Given the description of an element on the screen output the (x, y) to click on. 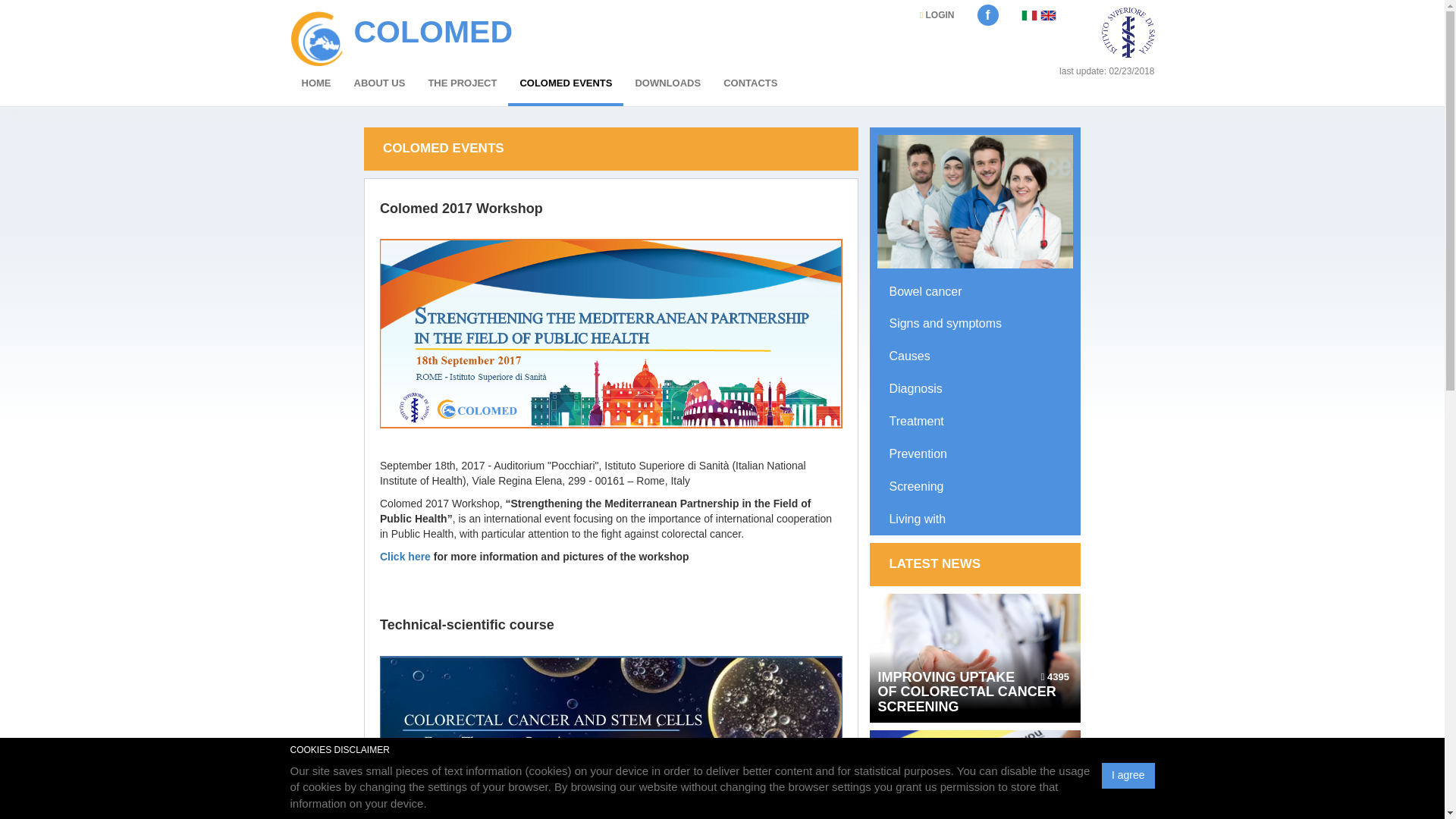
LOGIN (937, 18)
Bowel cancer (924, 291)
THE PROJECT (462, 86)
LOGIN (937, 18)
Treatment (915, 420)
HOME (315, 86)
ABOUT US (379, 86)
Living with (916, 518)
Bowel cancer (924, 291)
Screening (915, 486)
Diagnosis (915, 388)
CONTACTS (750, 86)
ABOUT US (379, 86)
Prevention (917, 453)
COLOMED EVENTS (565, 86)
